Given the description of an element on the screen output the (x, y) to click on. 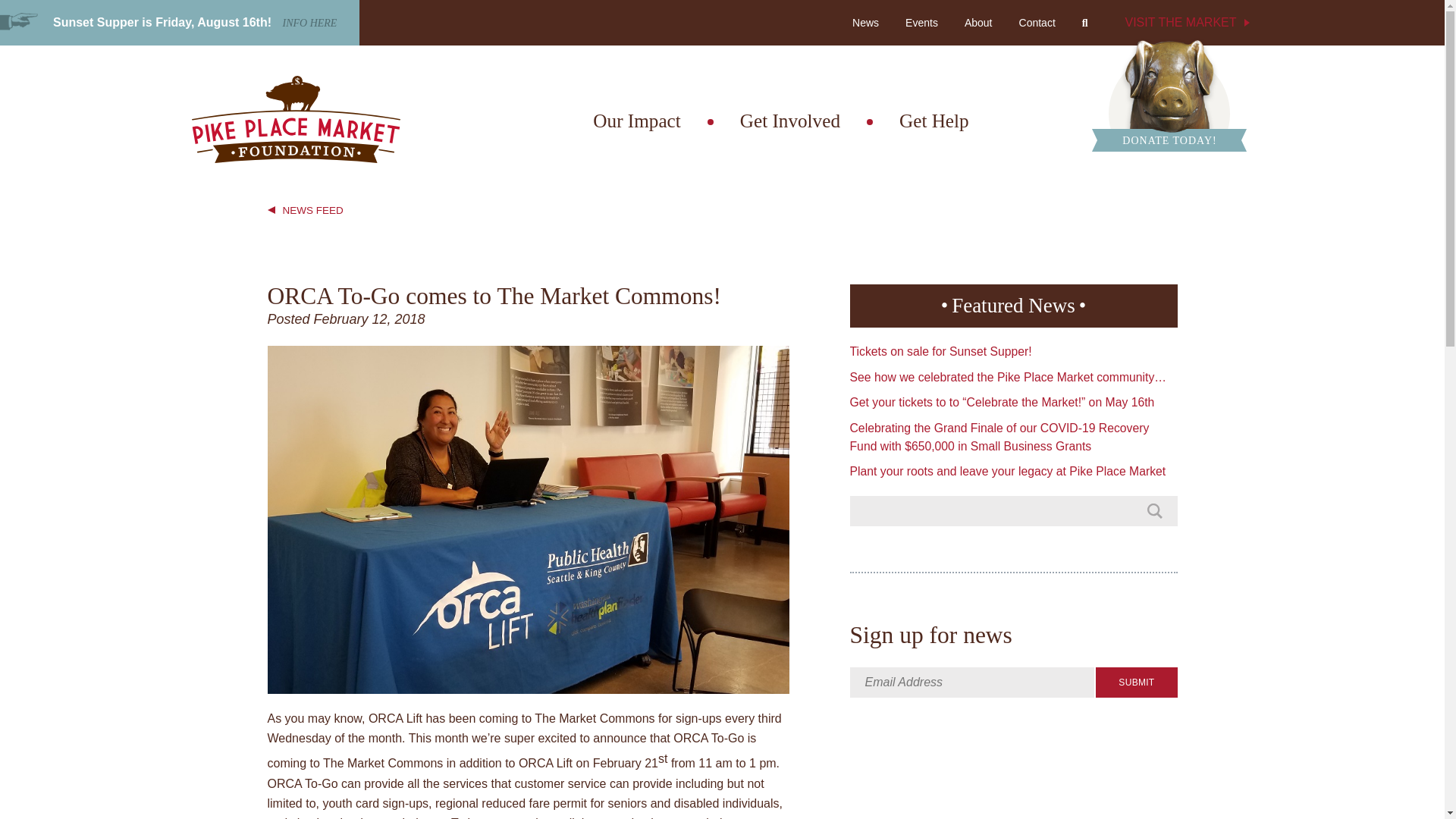
VISIT THE MARKET (1182, 22)
About (978, 22)
Our Impact (636, 120)
Get Involved (789, 120)
News (896, 15)
DONATE TODAY! (1169, 94)
INFO HERE (309, 22)
Events (921, 22)
Get Help (933, 120)
Contact (1037, 22)
